Given the description of an element on the screen output the (x, y) to click on. 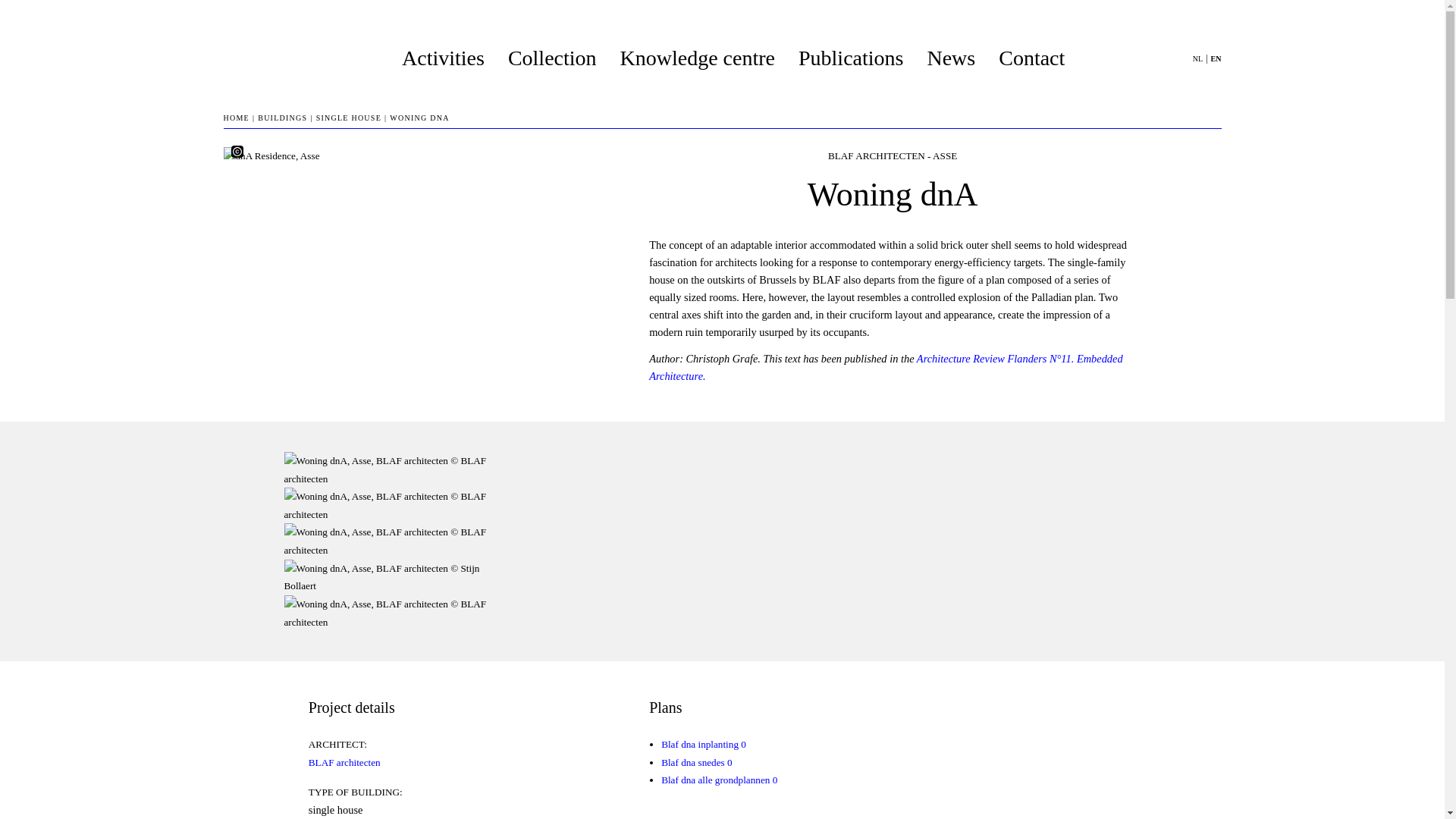
News (952, 57)
EN (1216, 58)
Knowledge centre (700, 57)
Collection (555, 57)
Activities (445, 57)
BLAF architecten (344, 762)
Publications (852, 57)
Blaf dna snedes 0 (696, 762)
Blaf dna alle grondplannen 0 (719, 779)
Blaf dna inplanting 0 (703, 744)
